Given the description of an element on the screen output the (x, y) to click on. 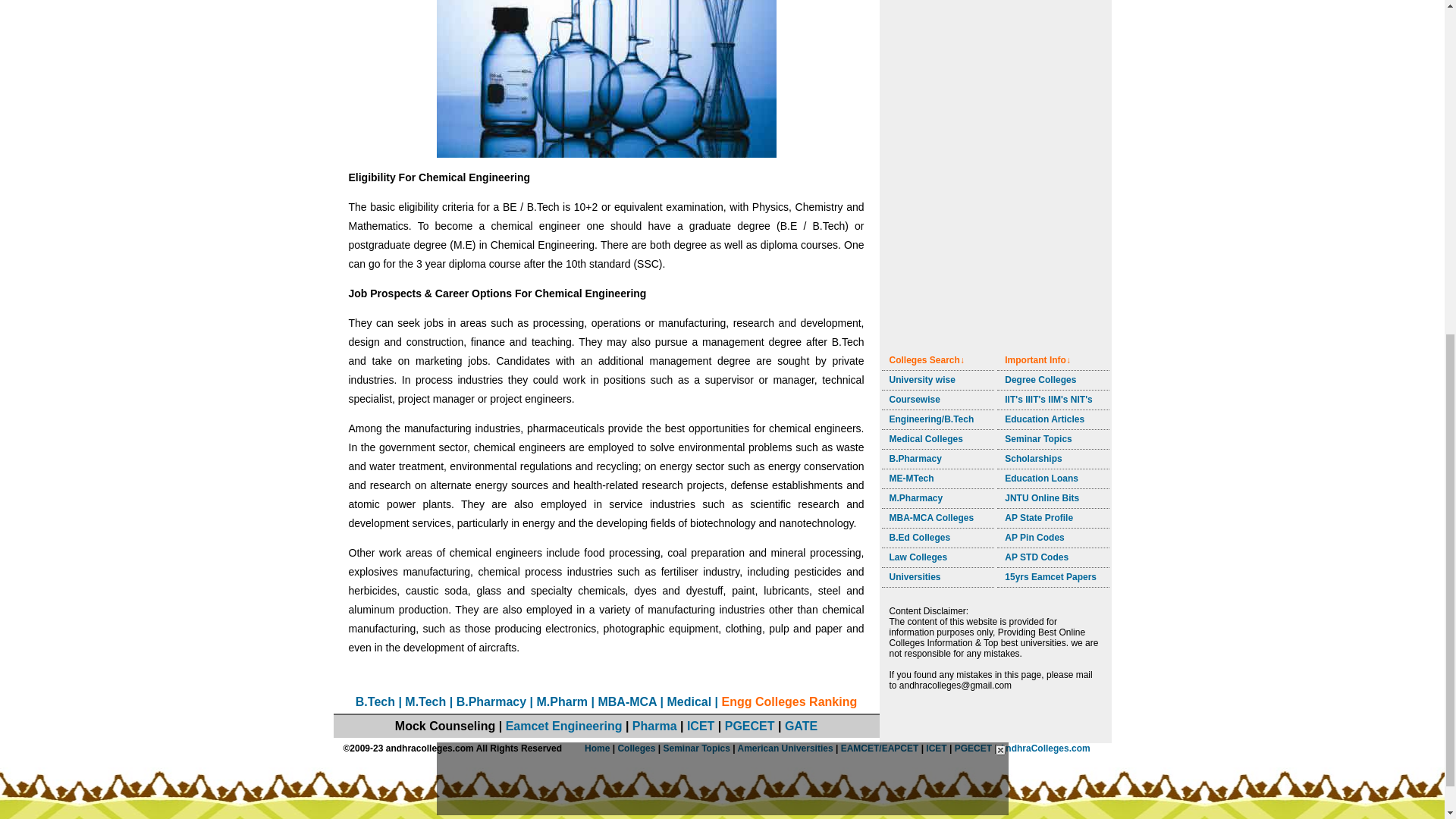
M.Tech (424, 701)
Eamcet Engineering Colleges List in AP Andhra Pradesh (374, 701)
B.Tech (374, 701)
